Given the description of an element on the screen output the (x, y) to click on. 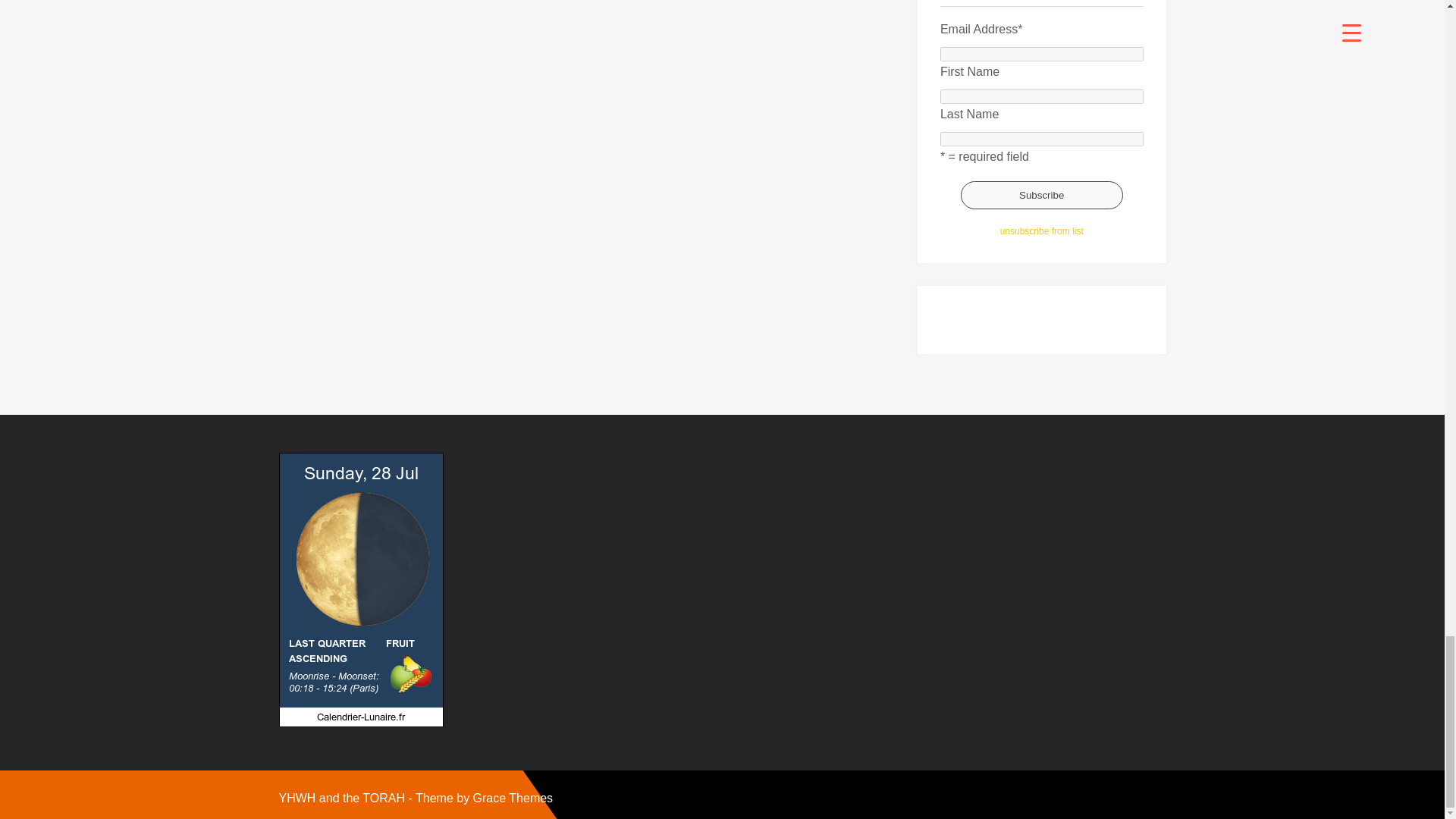
Subscribe (1041, 194)
